Given the description of an element on the screen output the (x, y) to click on. 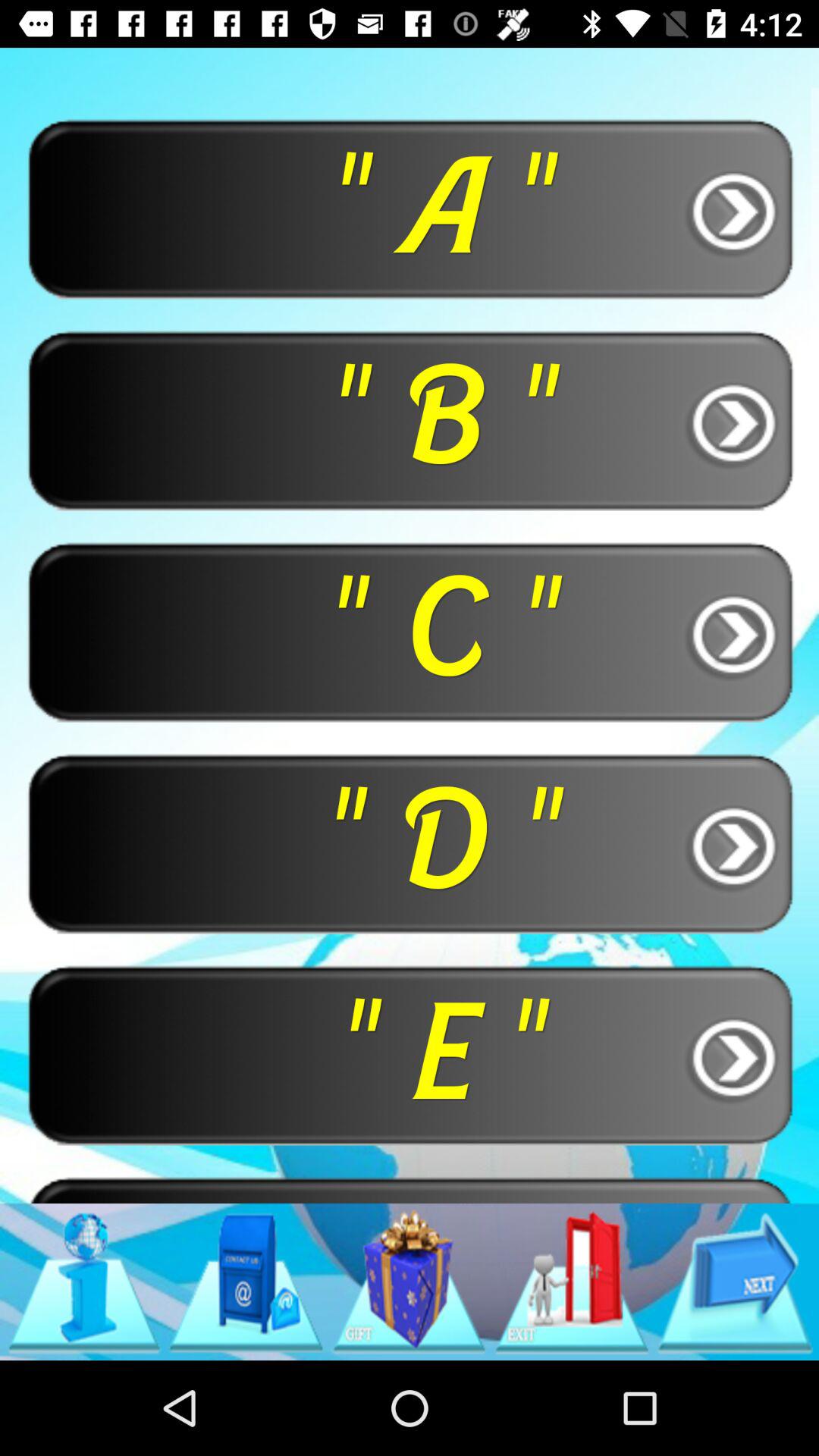
turn on the   " f " (409, 1189)
